Given the description of an element on the screen output the (x, y) to click on. 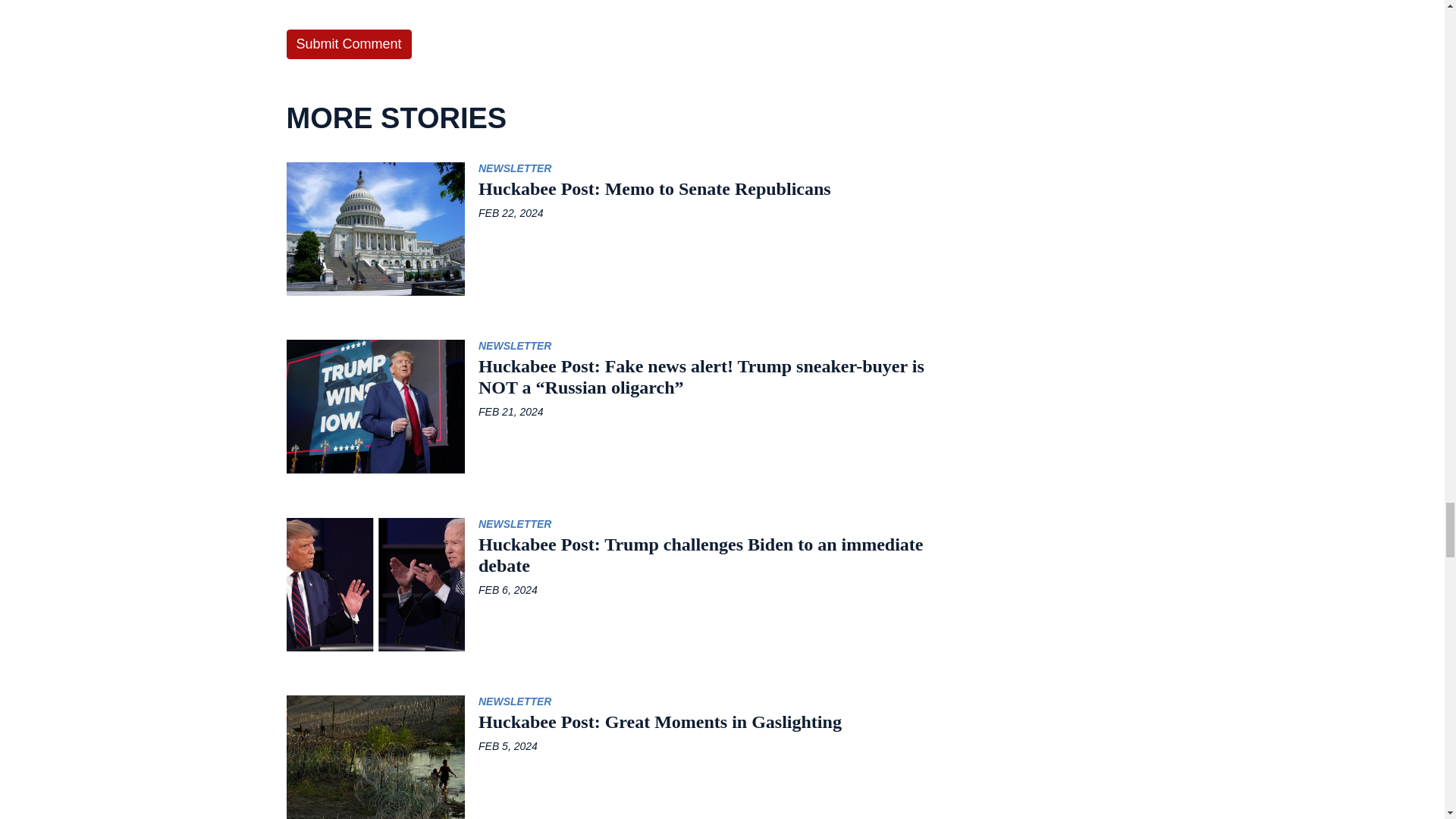
Huckabee Post: Trump challenges Biden to an immediate debate (606, 554)
Submit Comment (349, 44)
NEWSLETTER (515, 168)
NEWSLETTER (515, 701)
Submit Comment (349, 44)
NEWSLETTER (515, 523)
NEWSLETTER (515, 345)
Huckabee Post: Memo to Senate Republicans (606, 188)
